Given the description of an element on the screen output the (x, y) to click on. 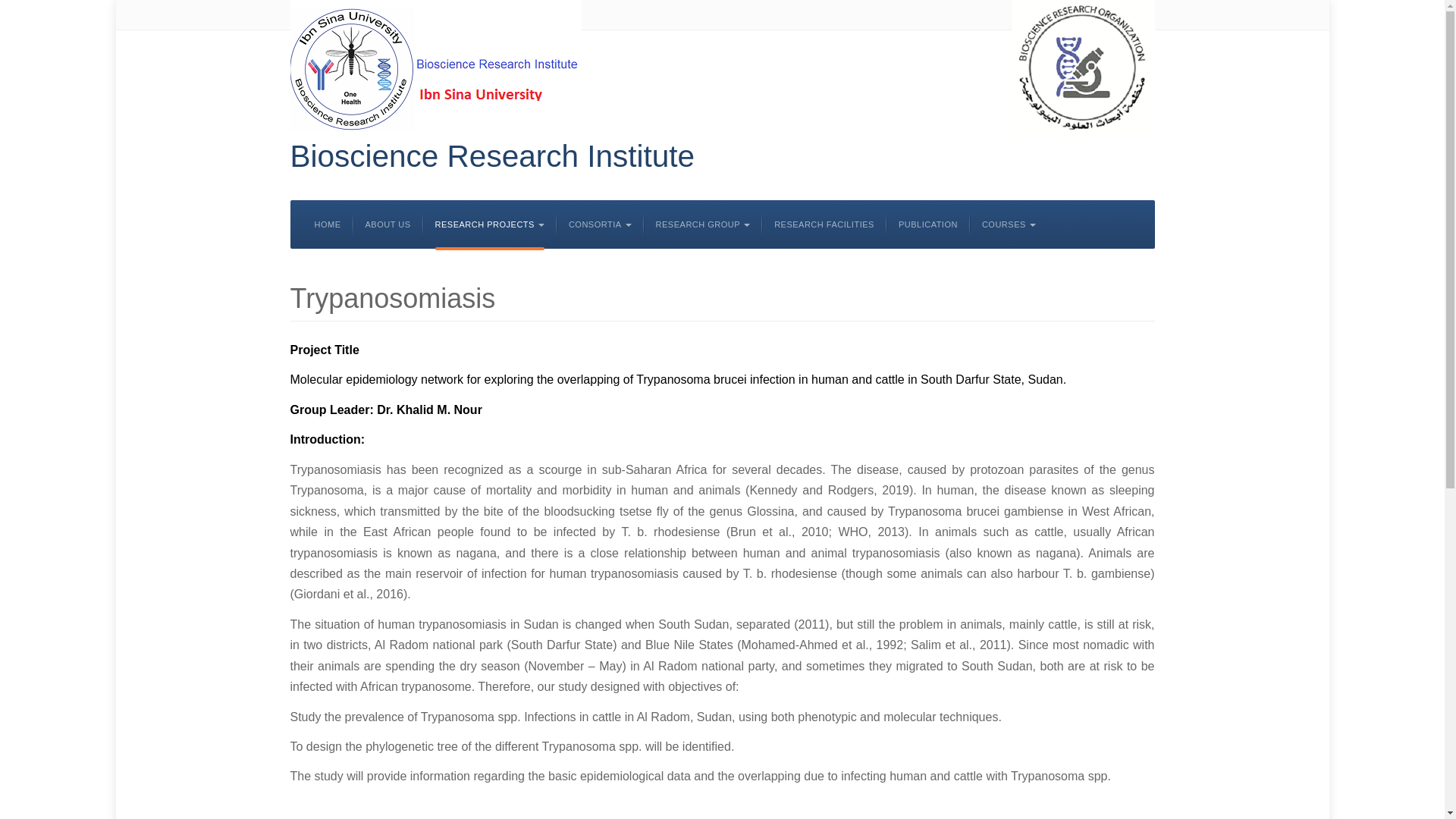
www.isu.edu.sd (434, 66)
Bioscience Research Institute (491, 155)
ABOUT US (387, 223)
Bioscience Research Institute (491, 155)
